Given the description of an element on the screen output the (x, y) to click on. 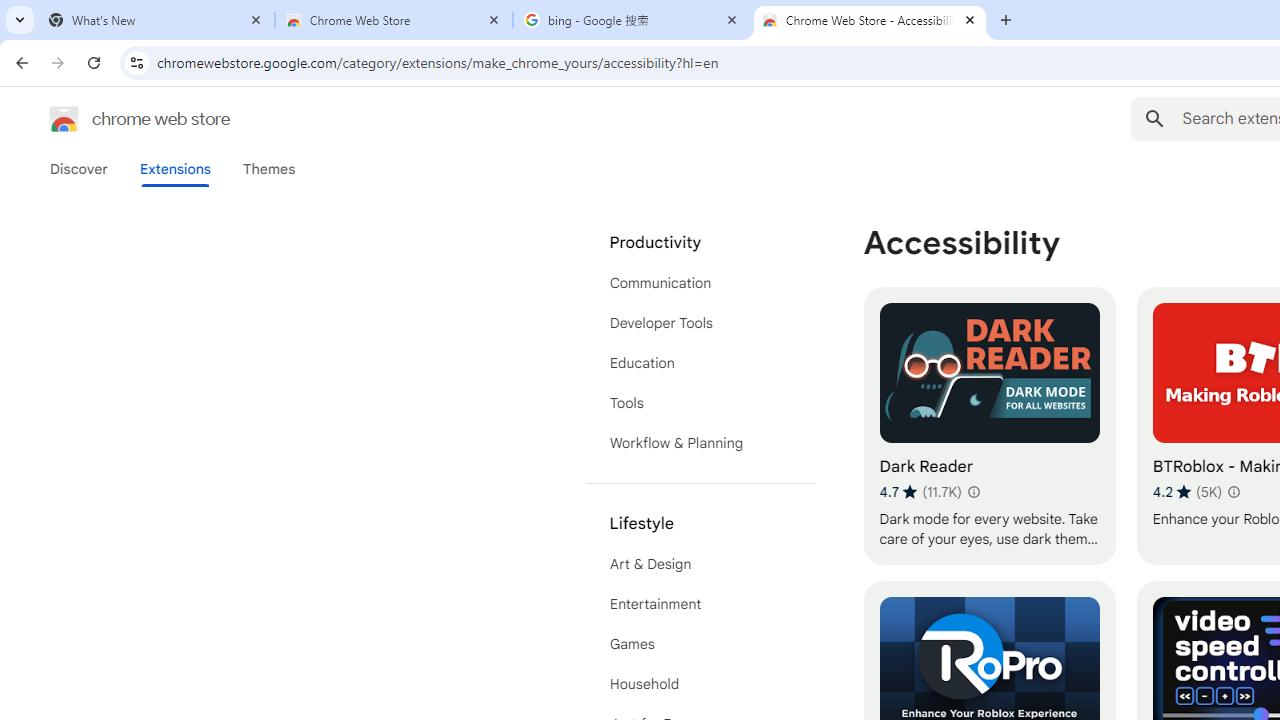
Workflow & Planning (700, 442)
New Tab (1006, 20)
